Given the description of an element on the screen output the (x, y) to click on. 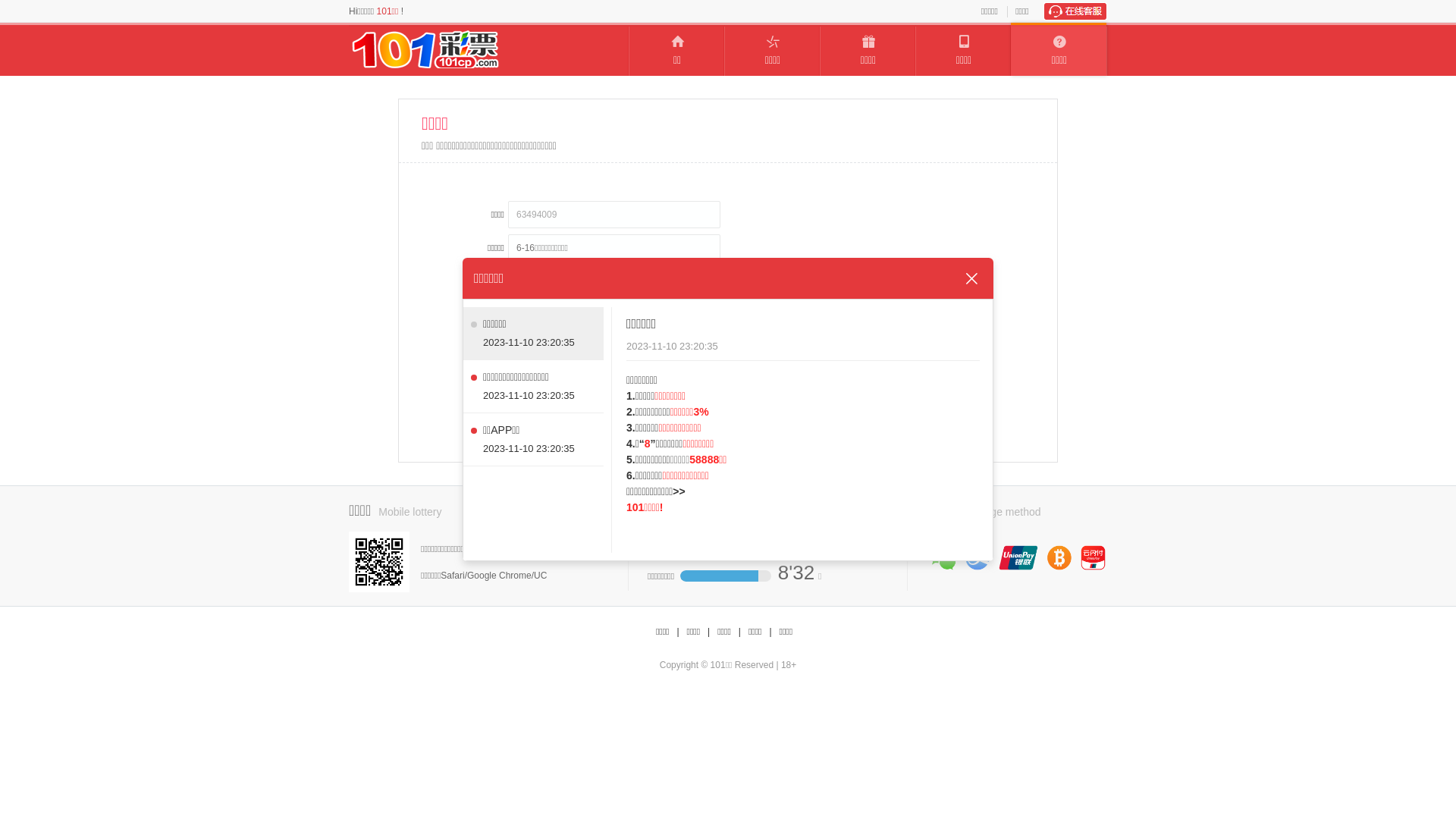
| Element type: text (708, 631)
| Element type: text (739, 631)
| Element type: text (769, 631)
| Element type: text (677, 631)
